Given the description of an element on the screen output the (x, y) to click on. 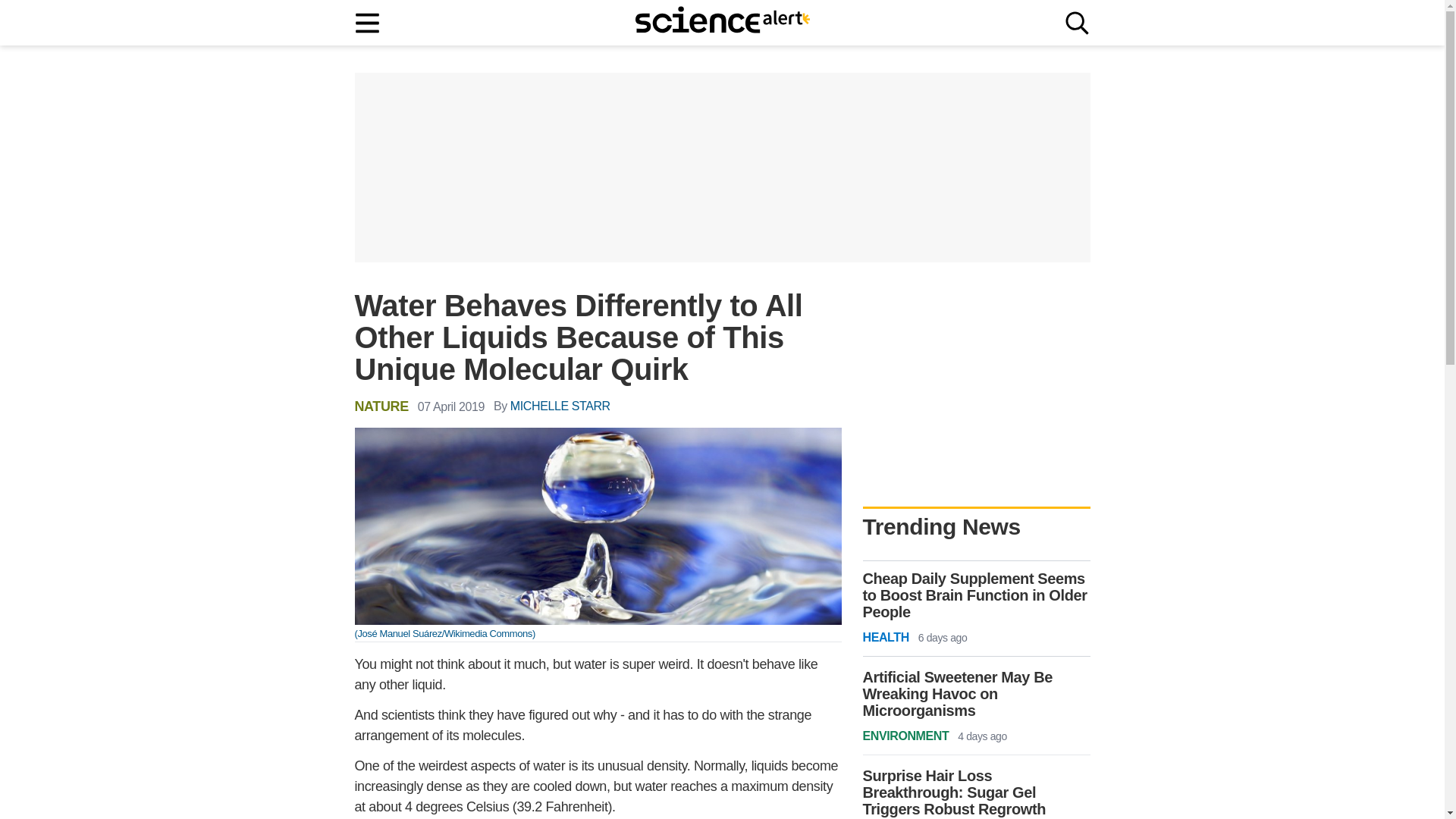
HEALTH (885, 637)
NATURE (382, 406)
MICHELLE STARR (560, 405)
Artificial Sweetener May Be Wreaking Havoc on Microorganisms (976, 694)
